Given the description of an element on the screen output the (x, y) to click on. 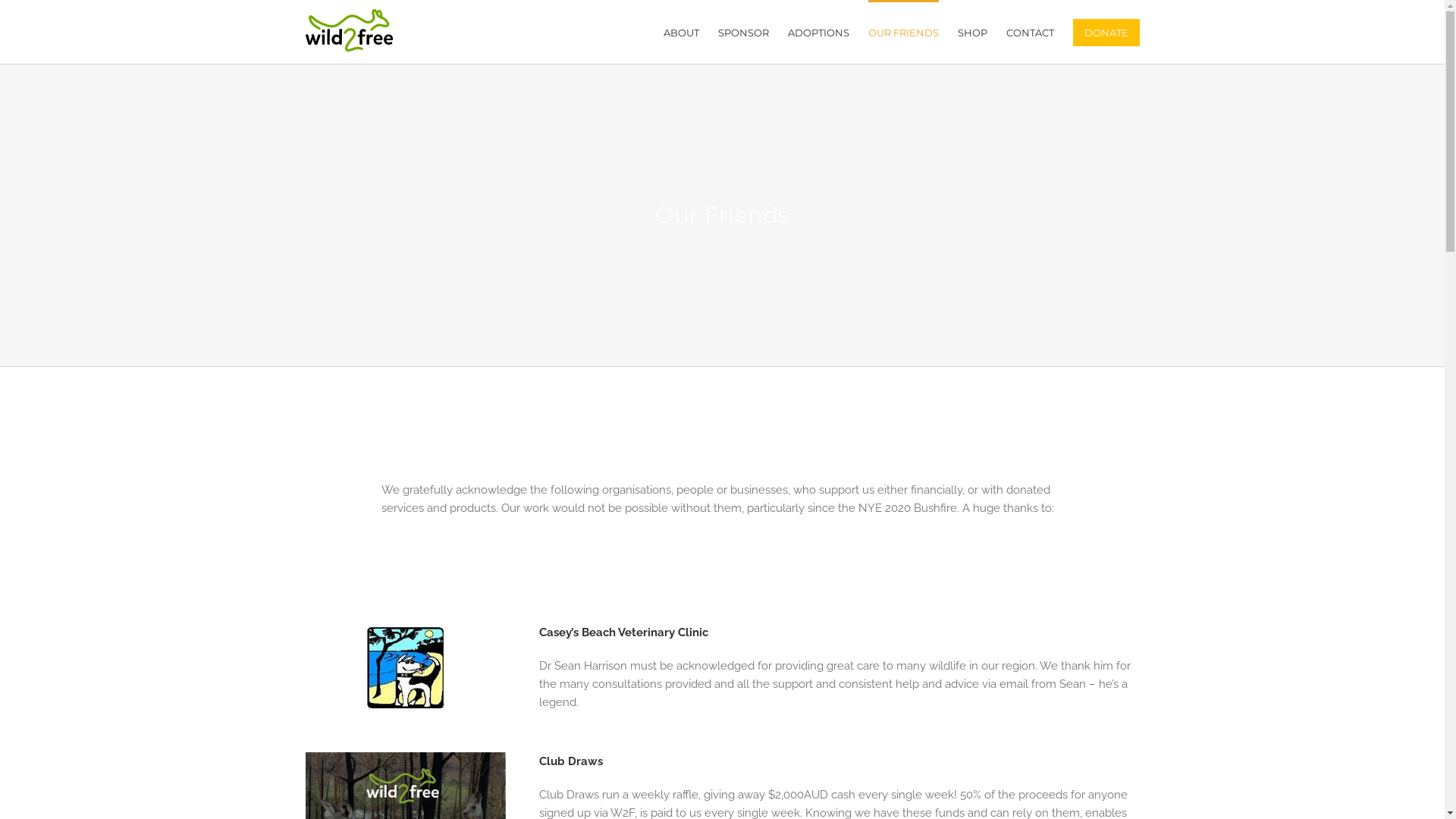
Club Draws Element type: text (570, 761)
SHOP Element type: text (971, 31)
ABOUT Element type: text (680, 31)
ADOPTIONS Element type: text (817, 31)
DONATE Element type: text (1105, 31)
SPONSOR Element type: text (742, 31)
OUR FRIENDS Element type: text (902, 31)
CONTACT Element type: text (1029, 31)
